Given the description of an element on the screen output the (x, y) to click on. 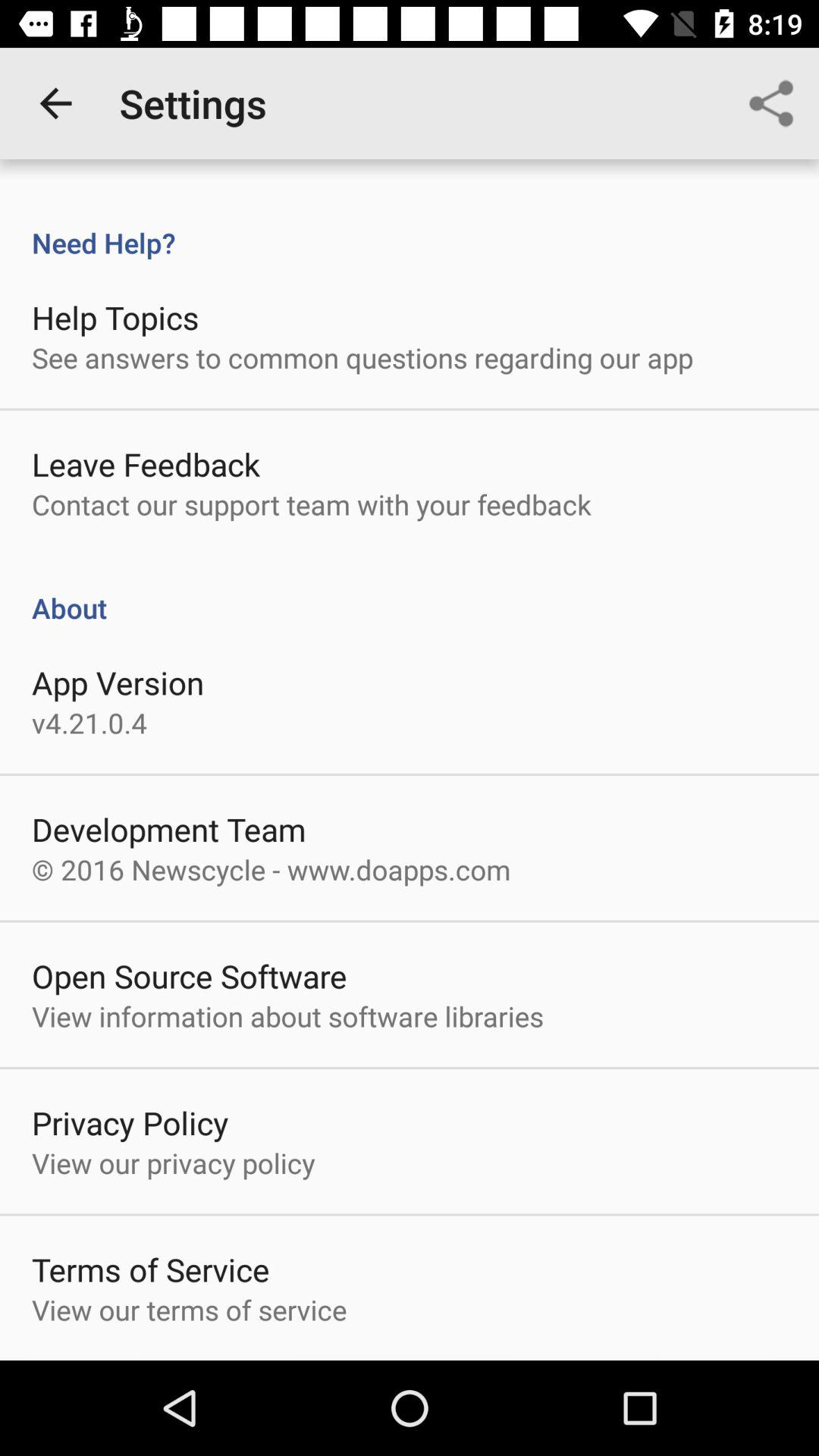
press icon below leave feedback icon (311, 504)
